Given the description of an element on the screen output the (x, y) to click on. 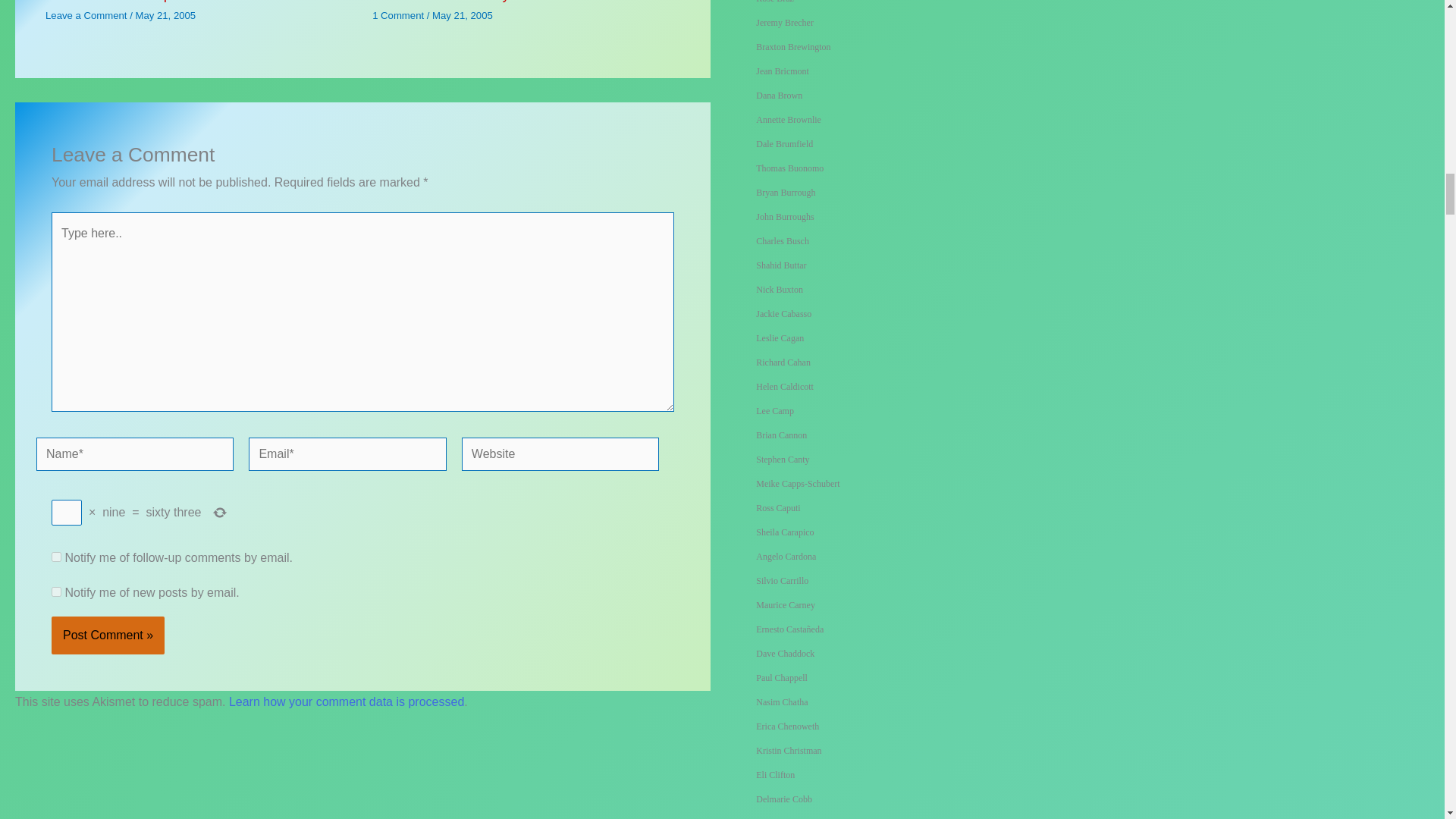
subscribe (55, 592)
subscribe (55, 556)
